Given the description of an element on the screen output the (x, y) to click on. 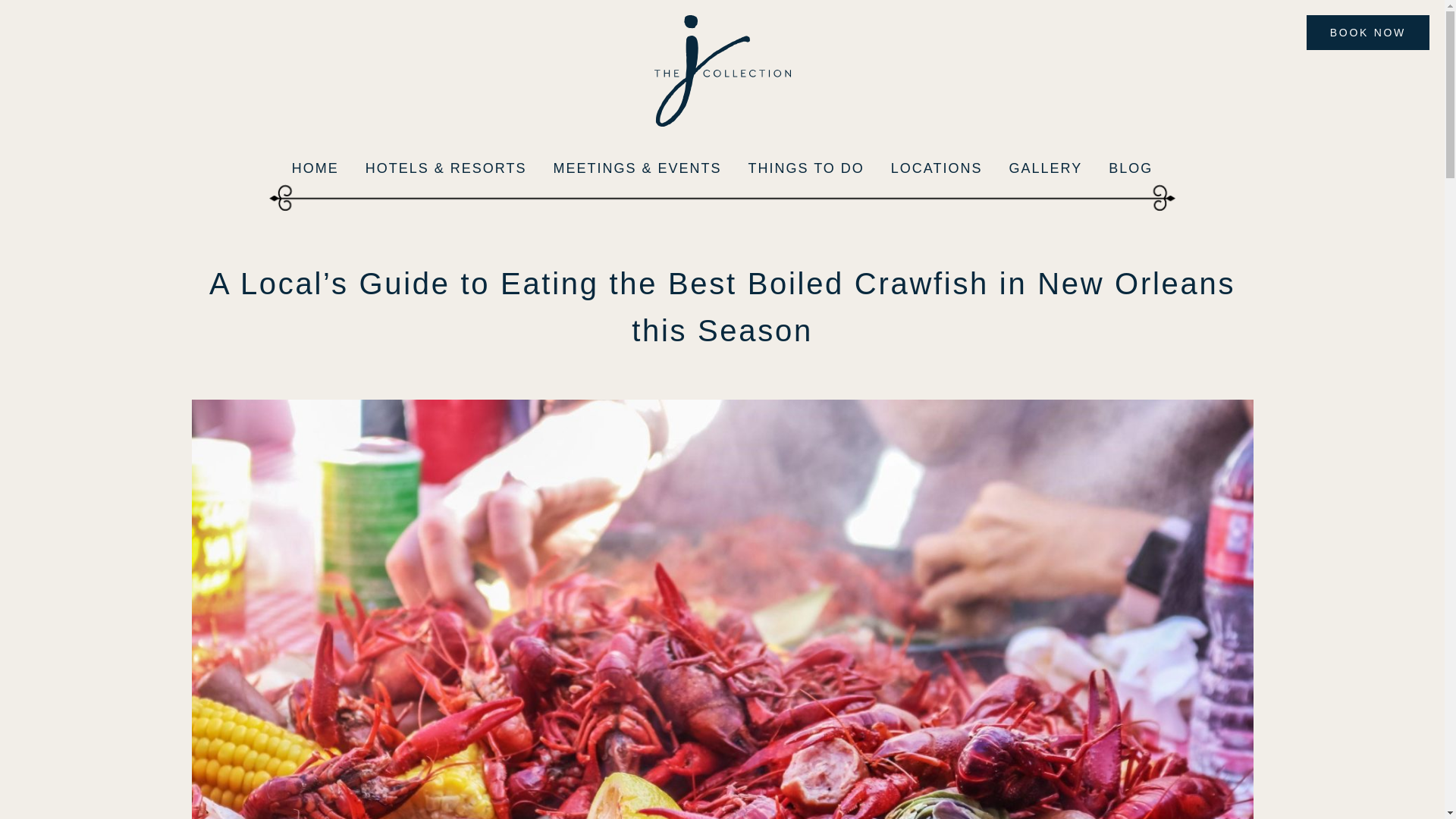
BOOK NOW (1367, 32)
LOCATIONS (936, 168)
HOME (315, 168)
GALLERY (1046, 168)
BLOG (1130, 168)
THINGS TO DO (805, 168)
